Given the description of an element on the screen output the (x, y) to click on. 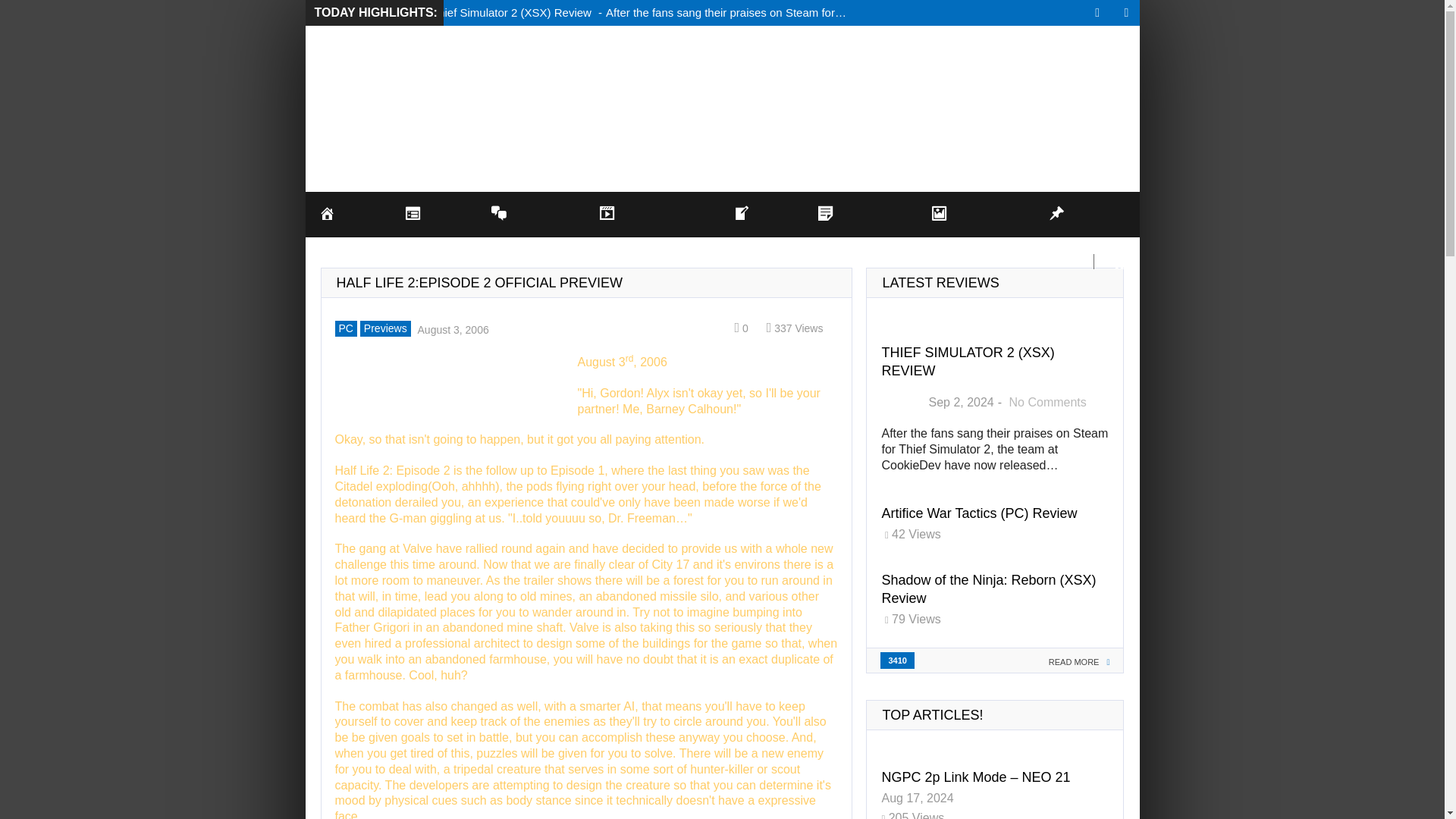
PC (345, 328)
HOME (347, 236)
REVIEWS (531, 236)
BLOG (761, 236)
August 3, 2006 (451, 328)
SCORE (900, 403)
PREVIEWS (976, 236)
10:45 pm (451, 328)
NEWS (434, 236)
ARTICLES (860, 236)
